Given the description of an element on the screen output the (x, y) to click on. 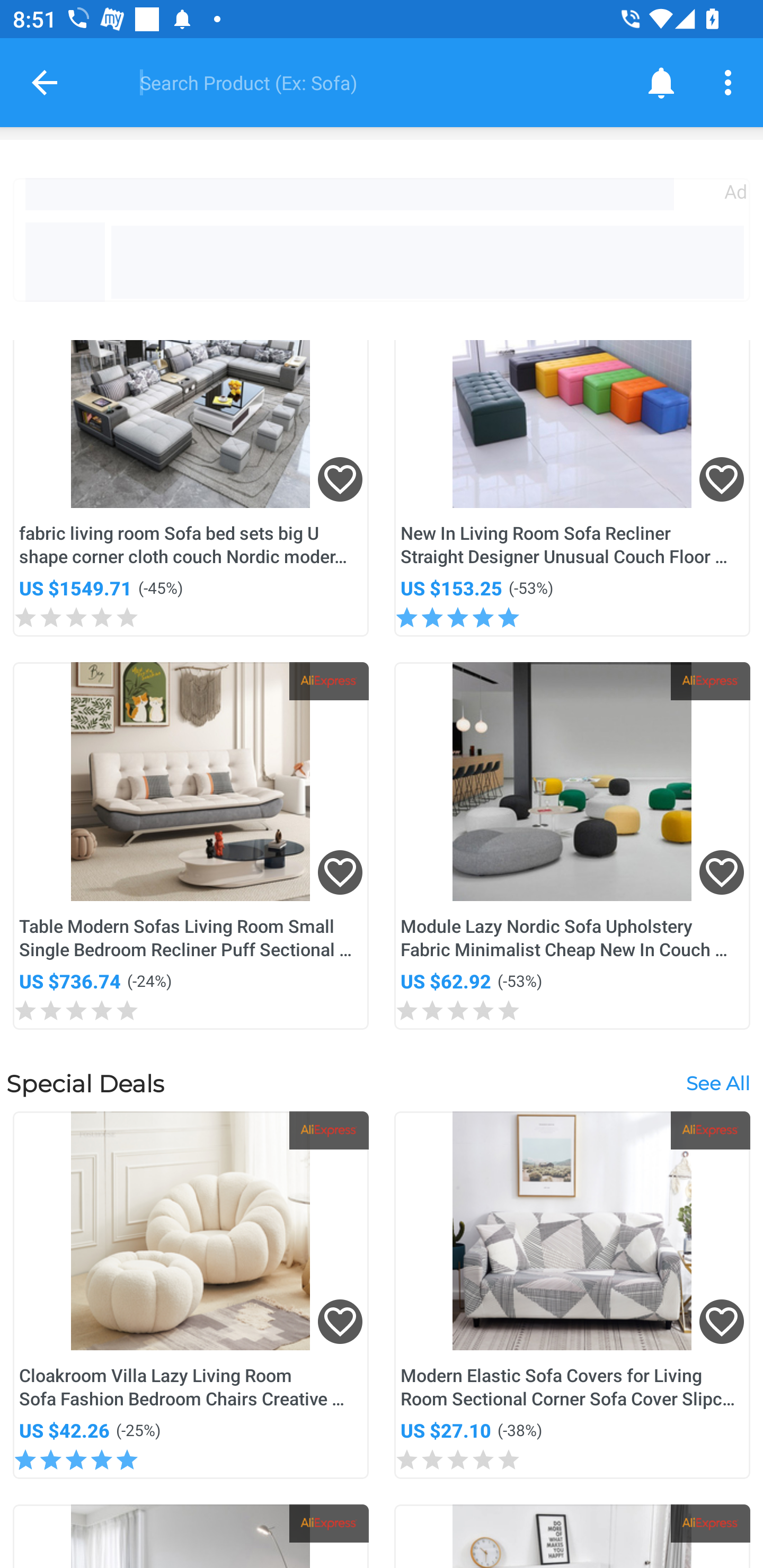
Collapse (44, 82)
More options (731, 81)
Search Product (Ex: Sofa) (368, 82)
See All (717, 1083)
